Given the description of an element on the screen output the (x, y) to click on. 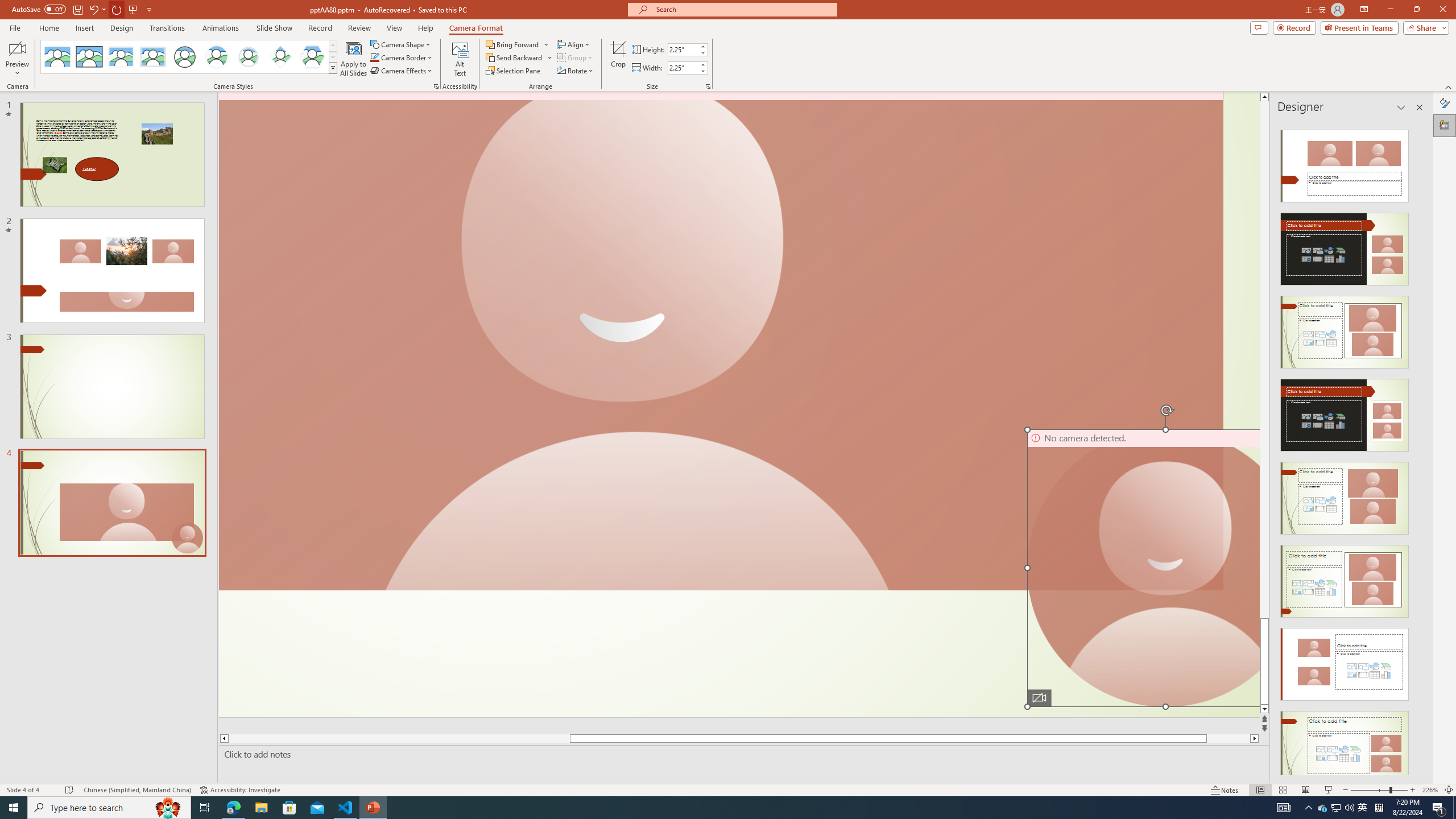
Send Backward (514, 56)
Center Shadow Rectangle (120, 56)
Send Backward (518, 56)
Simple Frame Rectangle (88, 56)
Align (574, 44)
Camera Border Teal, Accent 1 (374, 56)
